Given the description of an element on the screen output the (x, y) to click on. 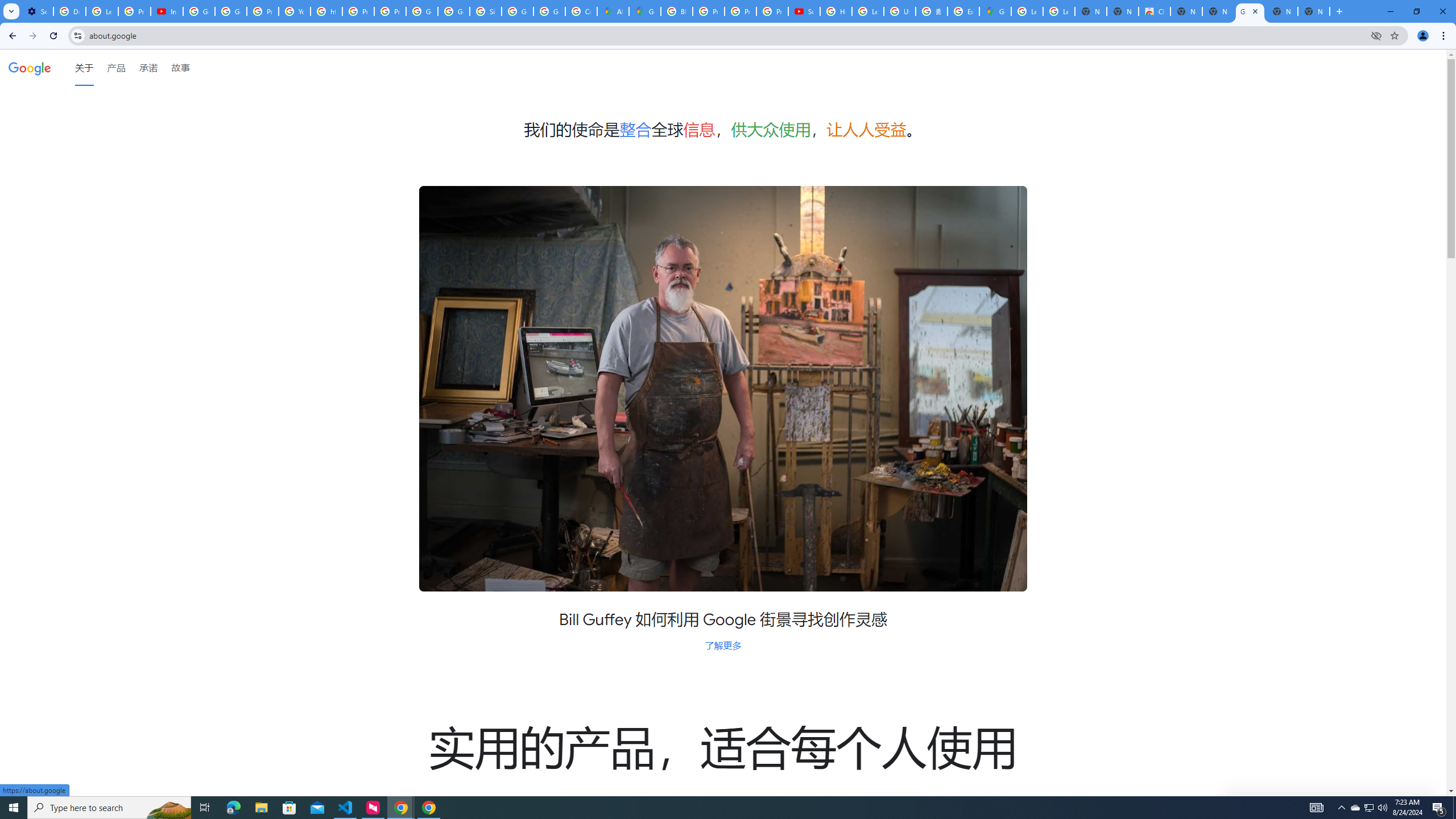
Settings - Customize profile (37, 11)
How Chrome protects your passwords - Google Chrome Help (836, 11)
Subscriptions - YouTube (804, 11)
Blogger Policies and Guidelines - Transparency Center (676, 11)
